Given the description of an element on the screen output the (x, y) to click on. 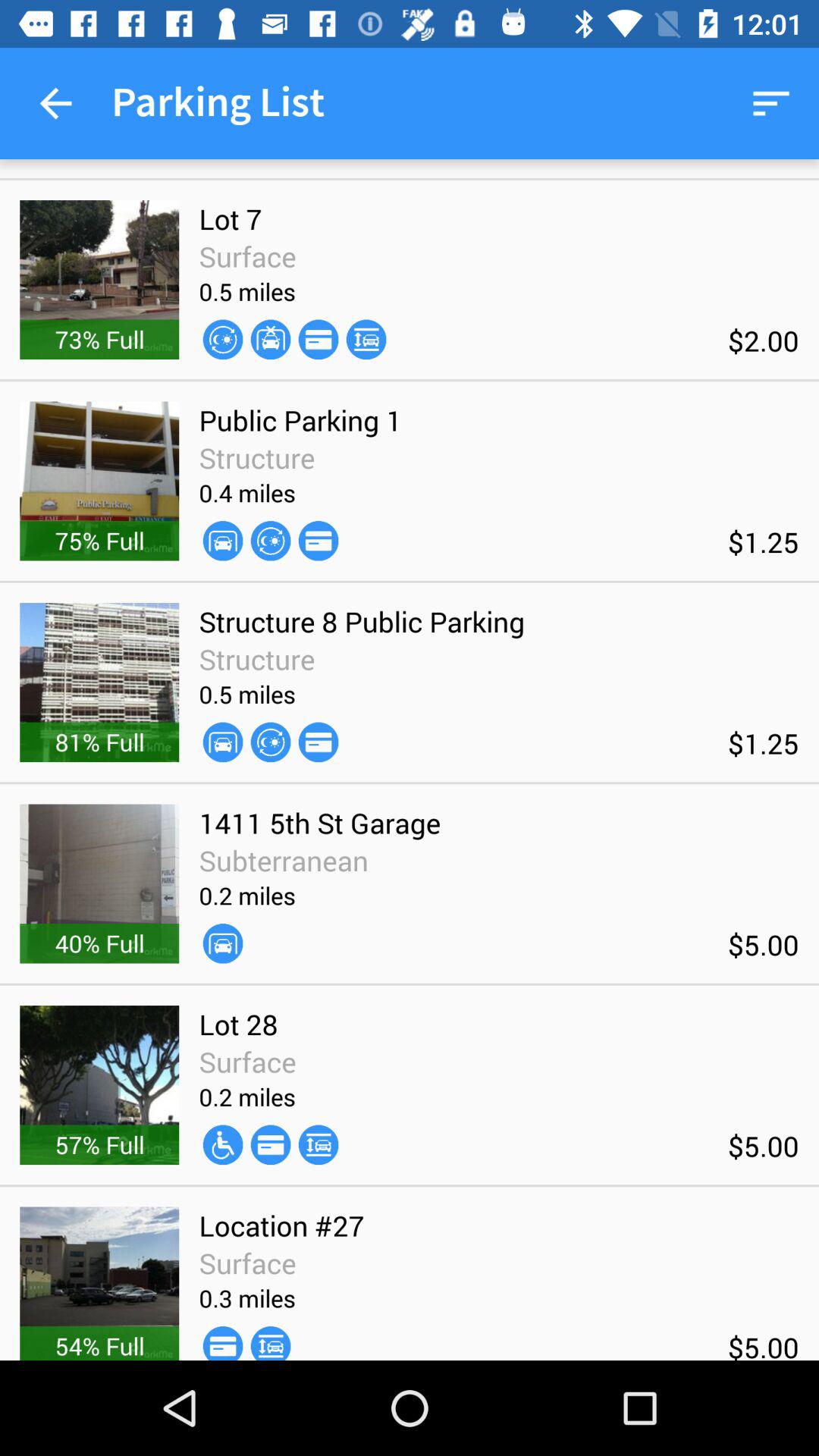
choose the icon next to the $5.00 icon (222, 943)
